Given the description of an element on the screen output the (x, y) to click on. 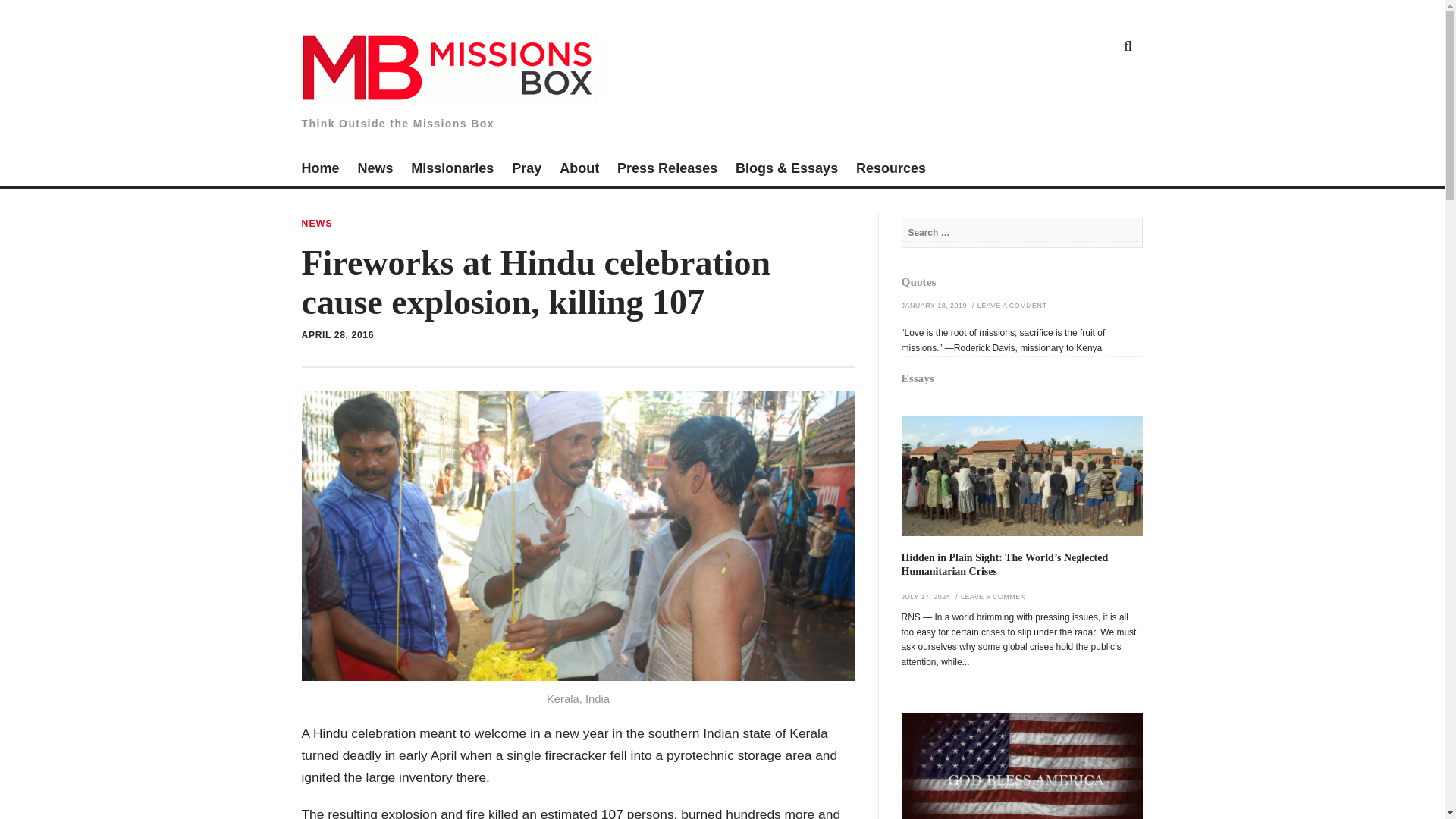
About (578, 170)
Resources (891, 170)
News (374, 170)
NEWS (317, 223)
Home (320, 170)
APRIL 28, 2016 (337, 335)
About (578, 170)
Missions Box Home Page (320, 170)
Missionaries (451, 170)
Missions Box Press Releases (667, 170)
